Given the description of an element on the screen output the (x, y) to click on. 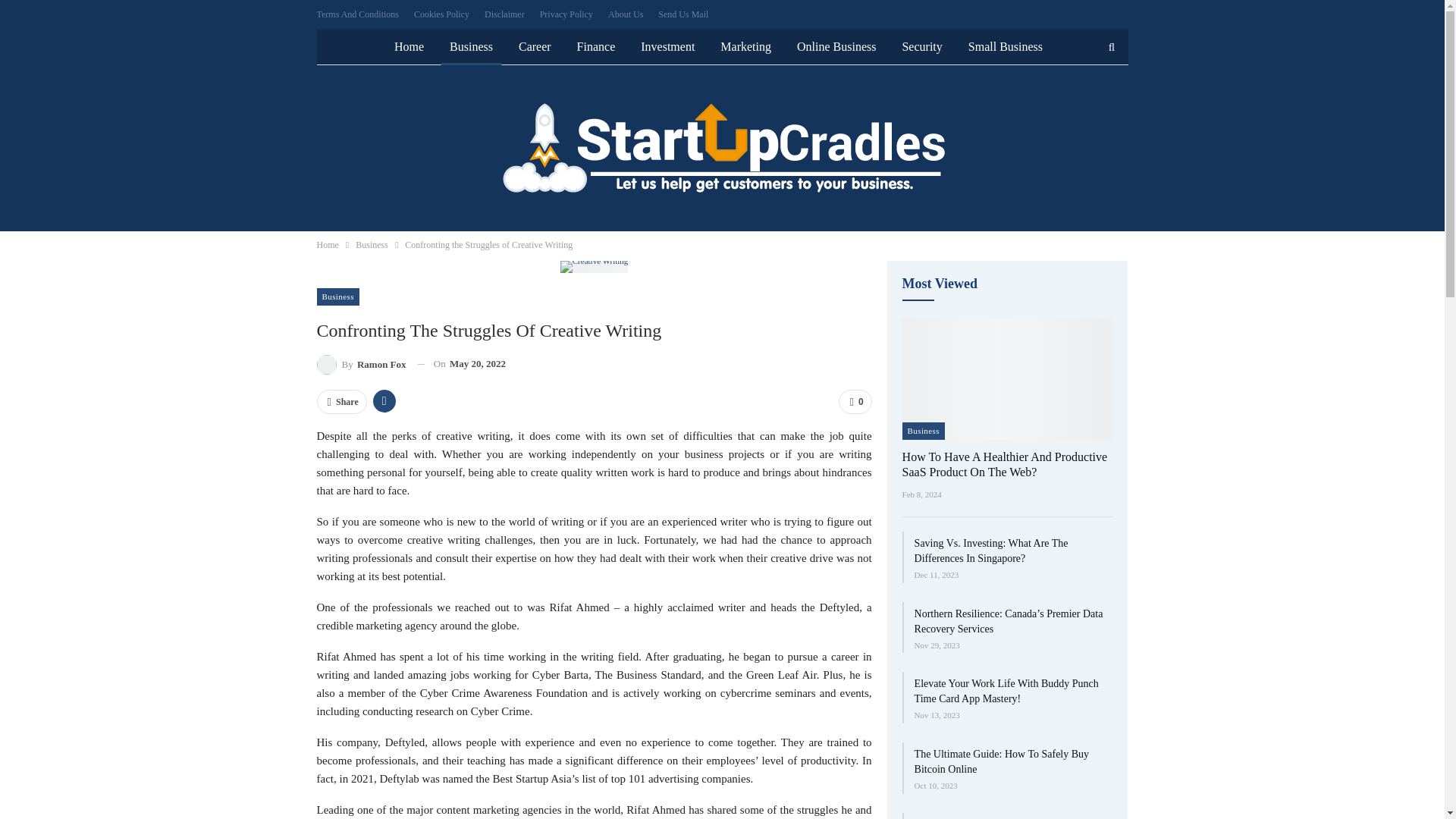
Browse Author Articles (361, 363)
Business (371, 244)
Small Business (1005, 46)
By Ramon Fox (361, 363)
About Us (625, 14)
Privacy Policy (566, 14)
Investment (667, 46)
Home (408, 46)
Security (921, 46)
Cookies Policy (440, 14)
